Given the description of an element on the screen output the (x, y) to click on. 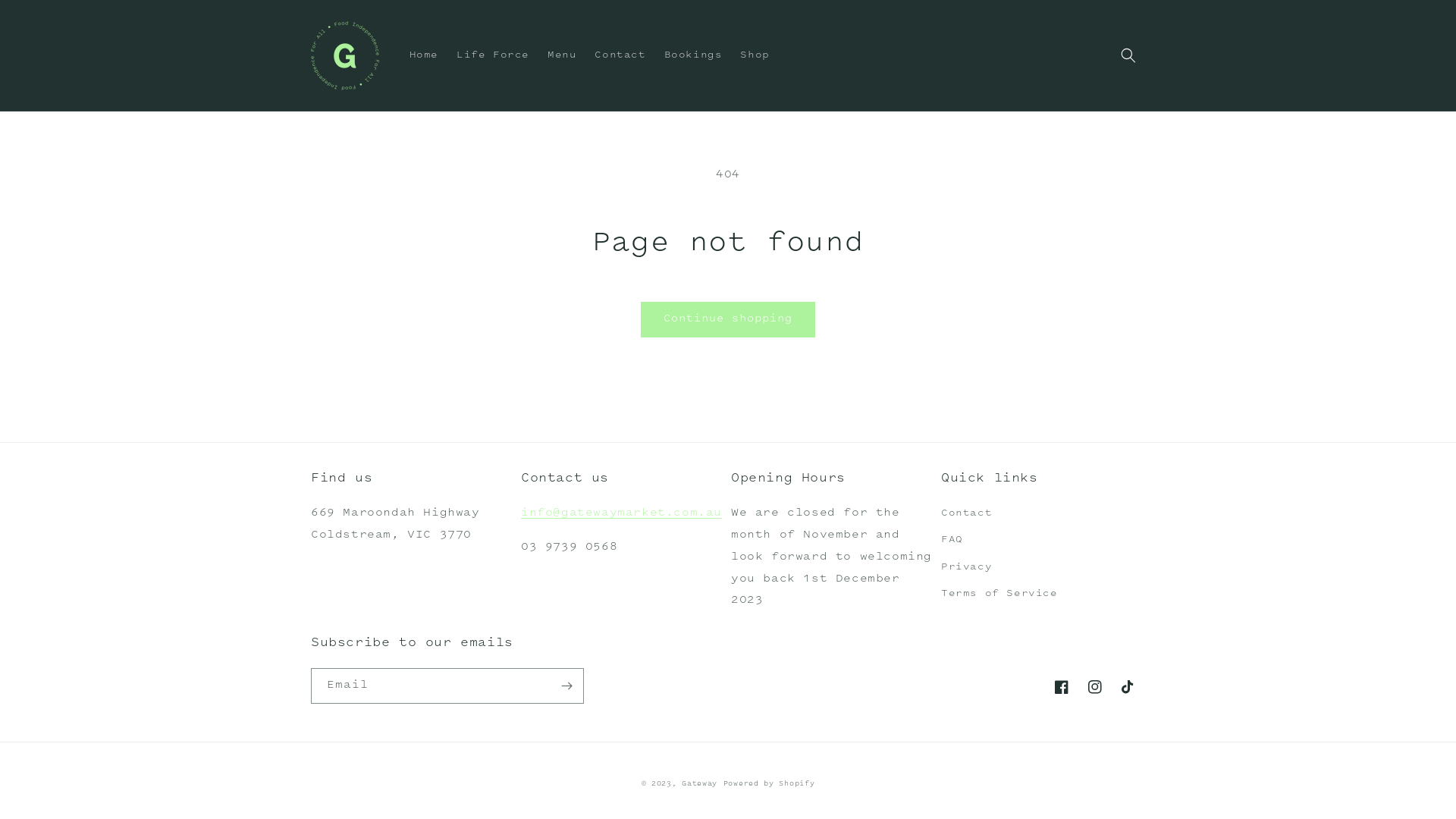
Home Element type: text (423, 55)
info@gatewaymarket.com.au Element type: text (620, 512)
Terms of Service Element type: text (999, 593)
TikTok Element type: text (1128, 686)
Facebook Element type: text (1061, 686)
Instagram Element type: text (1094, 686)
Privacy Element type: text (966, 567)
Powered by Shopify Element type: text (769, 783)
Life Force Element type: text (492, 55)
Gateway Element type: text (699, 783)
Shop Element type: text (754, 55)
Menu Element type: text (561, 55)
Contact Element type: text (966, 515)
Bookings Element type: text (693, 55)
Contact Element type: text (619, 55)
FAQ Element type: text (952, 540)
Continue shopping Element type: text (727, 319)
